Given the description of an element on the screen output the (x, y) to click on. 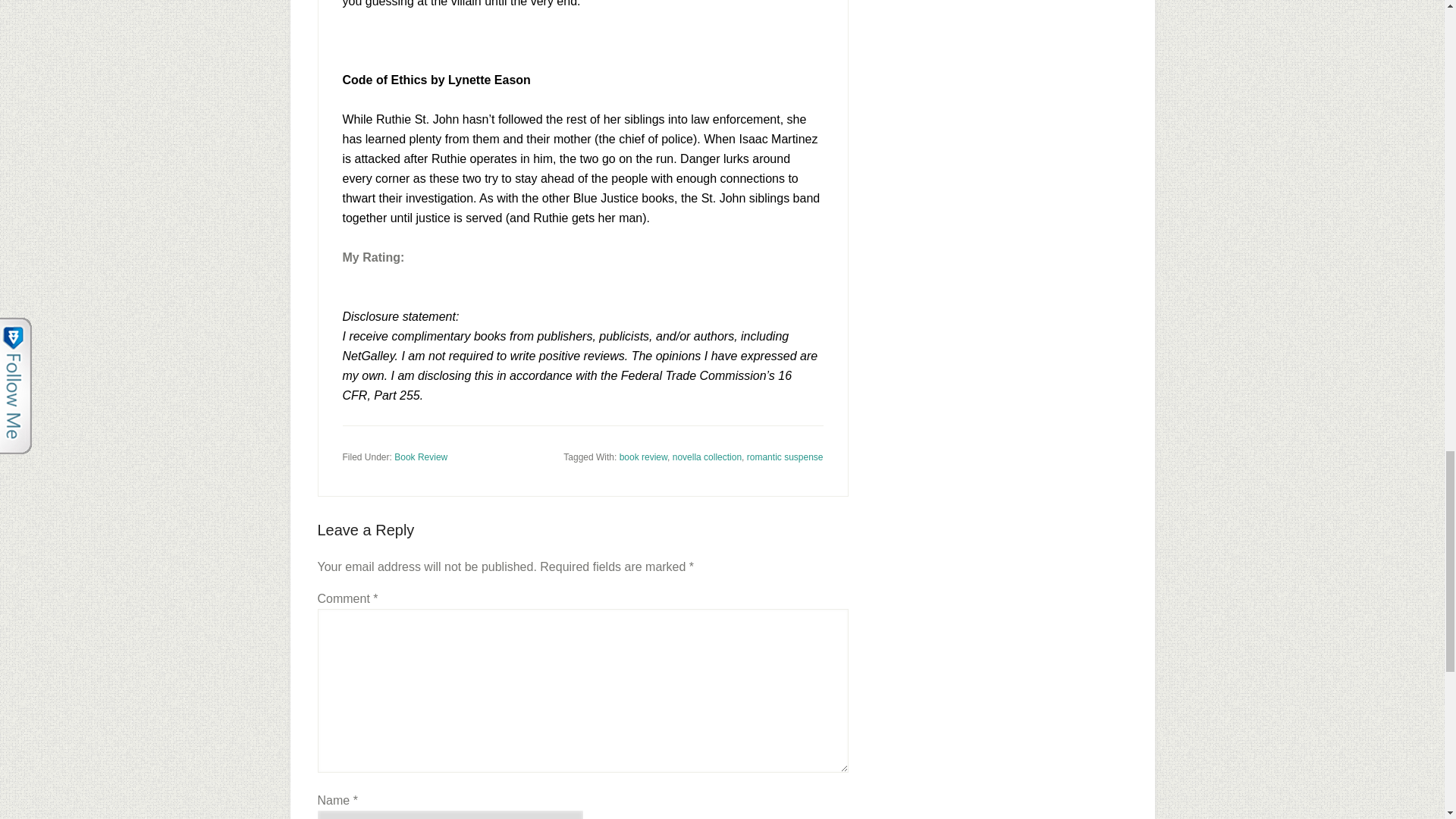
novella collection (706, 457)
book review (643, 457)
romantic suspense (785, 457)
Book Review (420, 457)
